Given the description of an element on the screen output the (x, y) to click on. 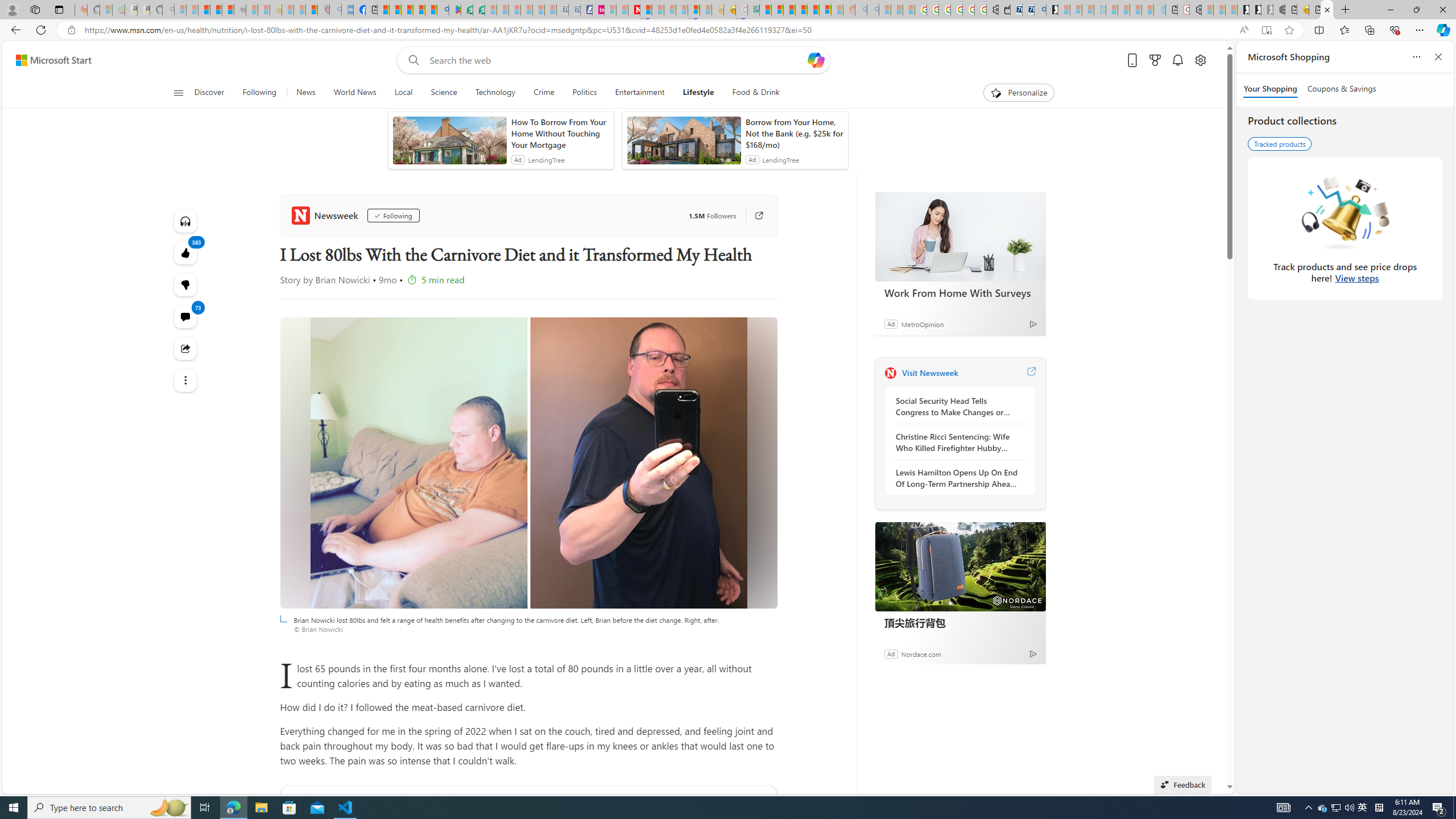
Enter Immersive Reader (F9) (1266, 29)
New tab (1315, 9)
Close (1442, 9)
Open navigation menu (177, 92)
14 Common Myths Debunked By Scientific Facts - Sleeping (657, 9)
Utah sues federal government - Search - Sleeping (872, 9)
The Weather Channel - MSN (204, 9)
